Given the description of an element on the screen output the (x, y) to click on. 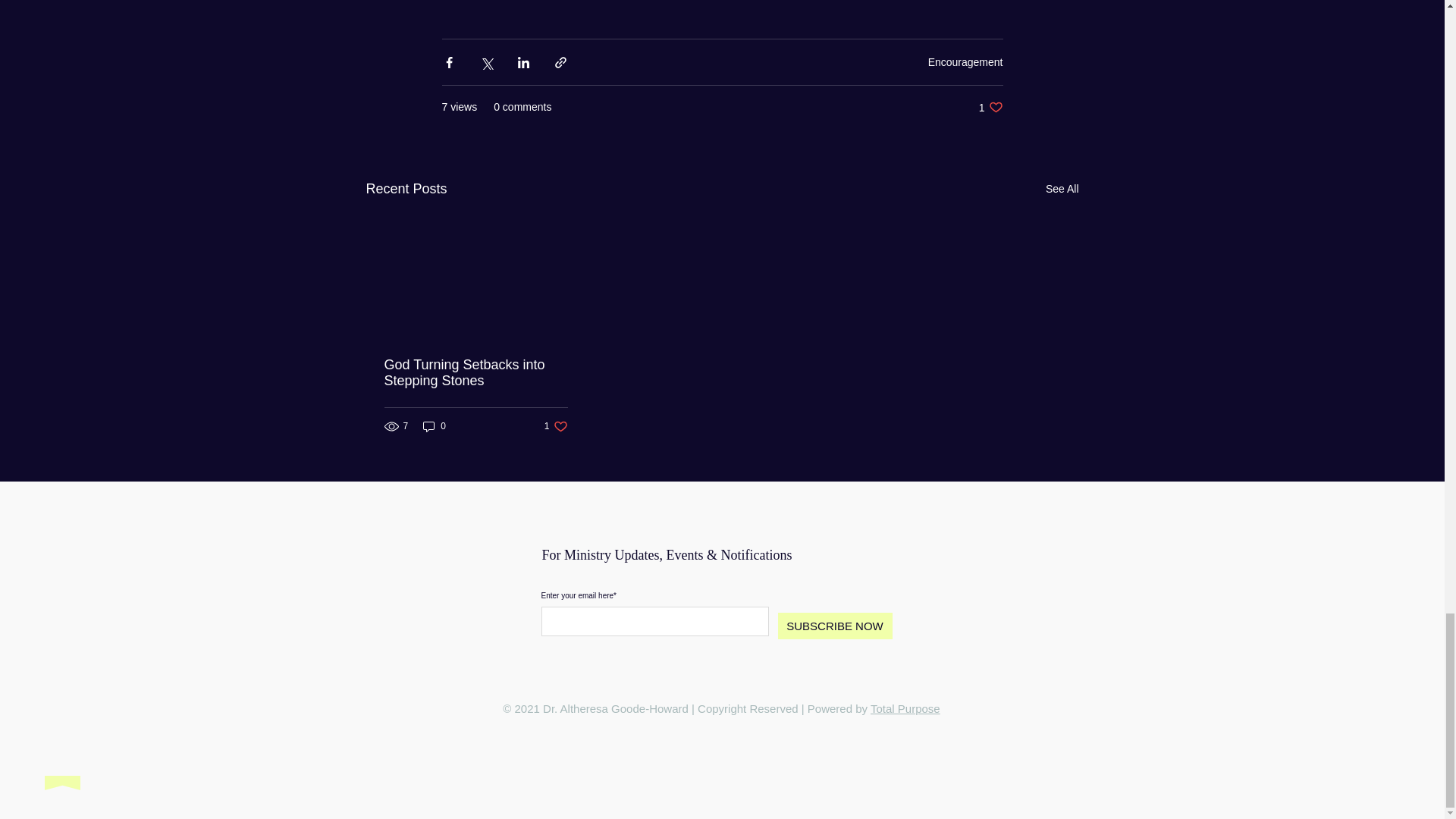
SUBSCRIBE NOW (834, 625)
Total Purpose (905, 707)
Encouragement (965, 61)
God Turning Setbacks into Stepping Stones (555, 426)
See All (475, 373)
0 (1061, 188)
